Given the description of an element on the screen output the (x, y) to click on. 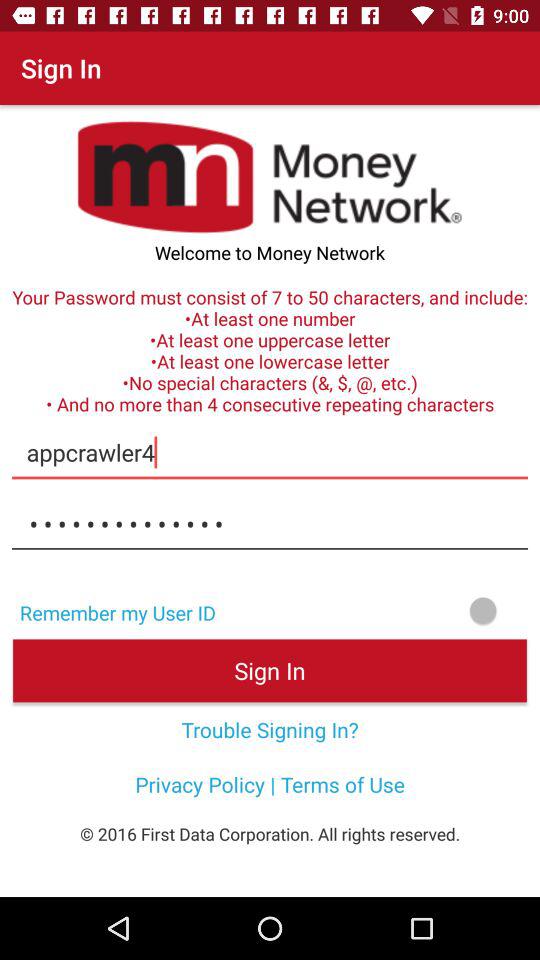
launch icon below trouble signing in? icon (270, 784)
